Given the description of an element on the screen output the (x, y) to click on. 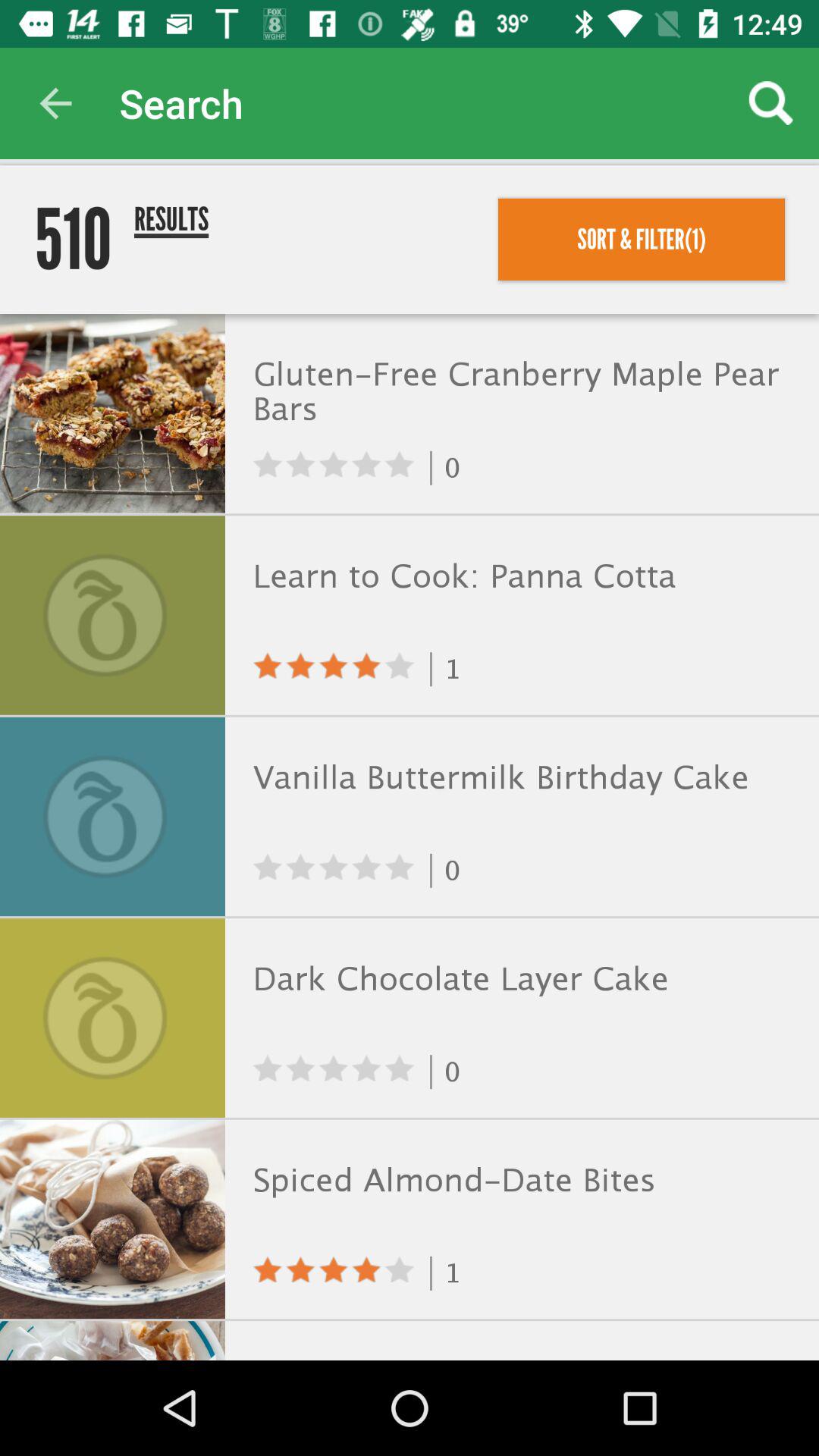
turn on icon below the sort & filter(1) icon (518, 393)
